Given the description of an element on the screen output the (x, y) to click on. 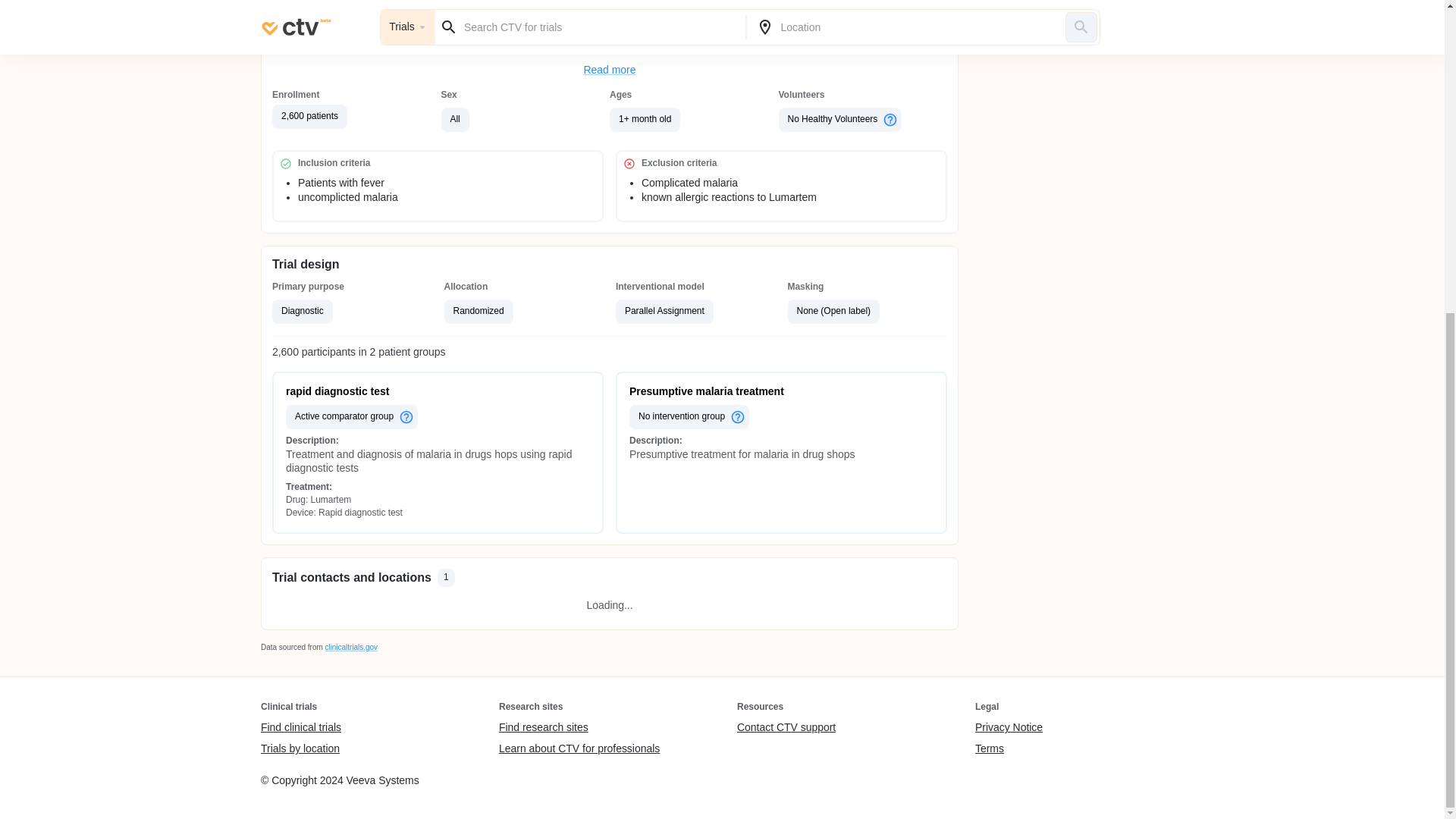
Privacy Notice (1008, 727)
clinicaltrials.gov (350, 646)
Terms (1008, 748)
Find clinical trials (300, 727)
Trials by location (300, 748)
Read more (609, 69)
Contact CTV support (785, 727)
Learn about CTV for professionals (579, 748)
Find research sites (579, 727)
